Given the description of an element on the screen output the (x, y) to click on. 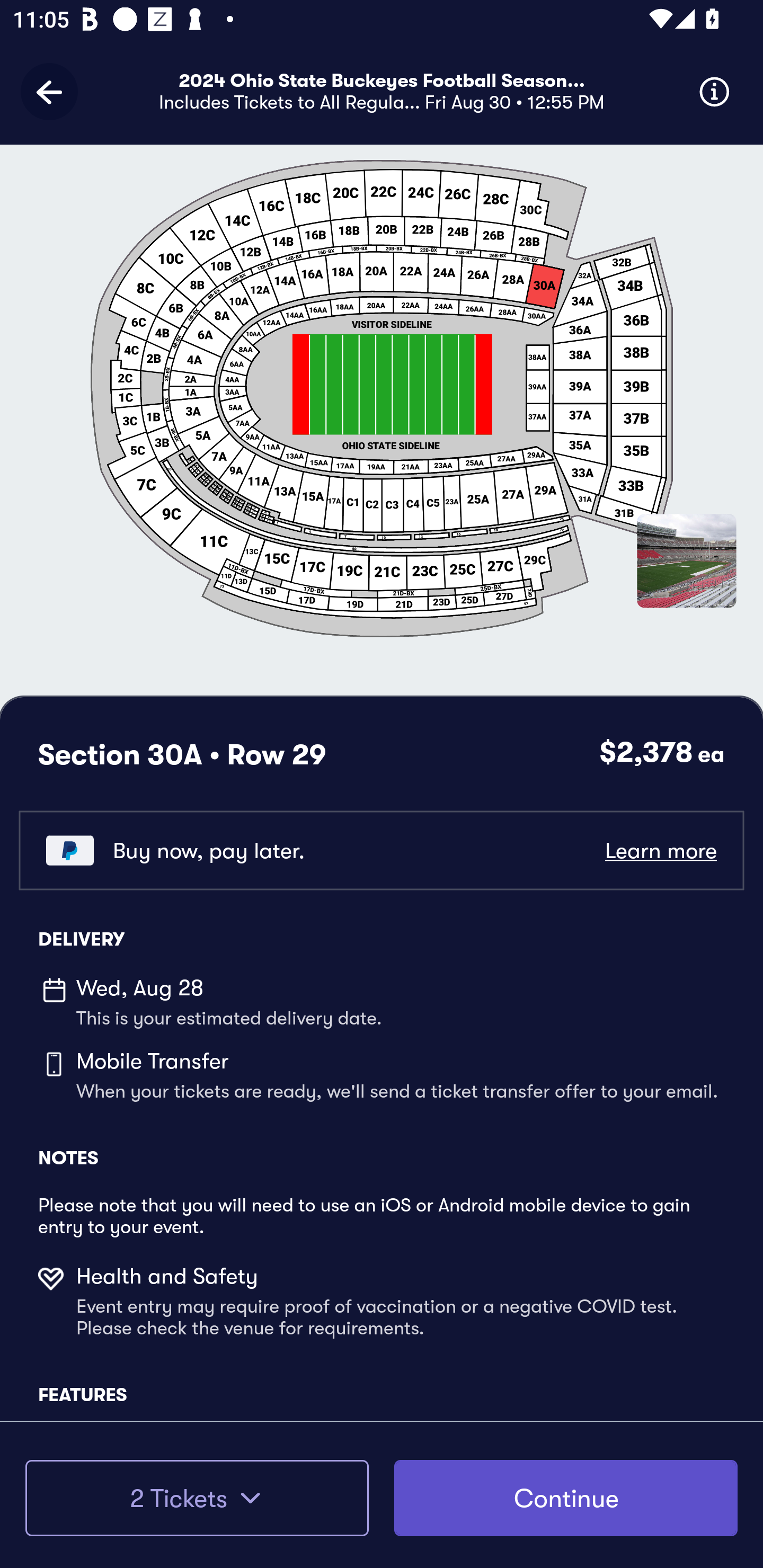
Learn more (660, 850)
2 Tickets (196, 1497)
Continue (565, 1497)
